Given the description of an element on the screen output the (x, y) to click on. 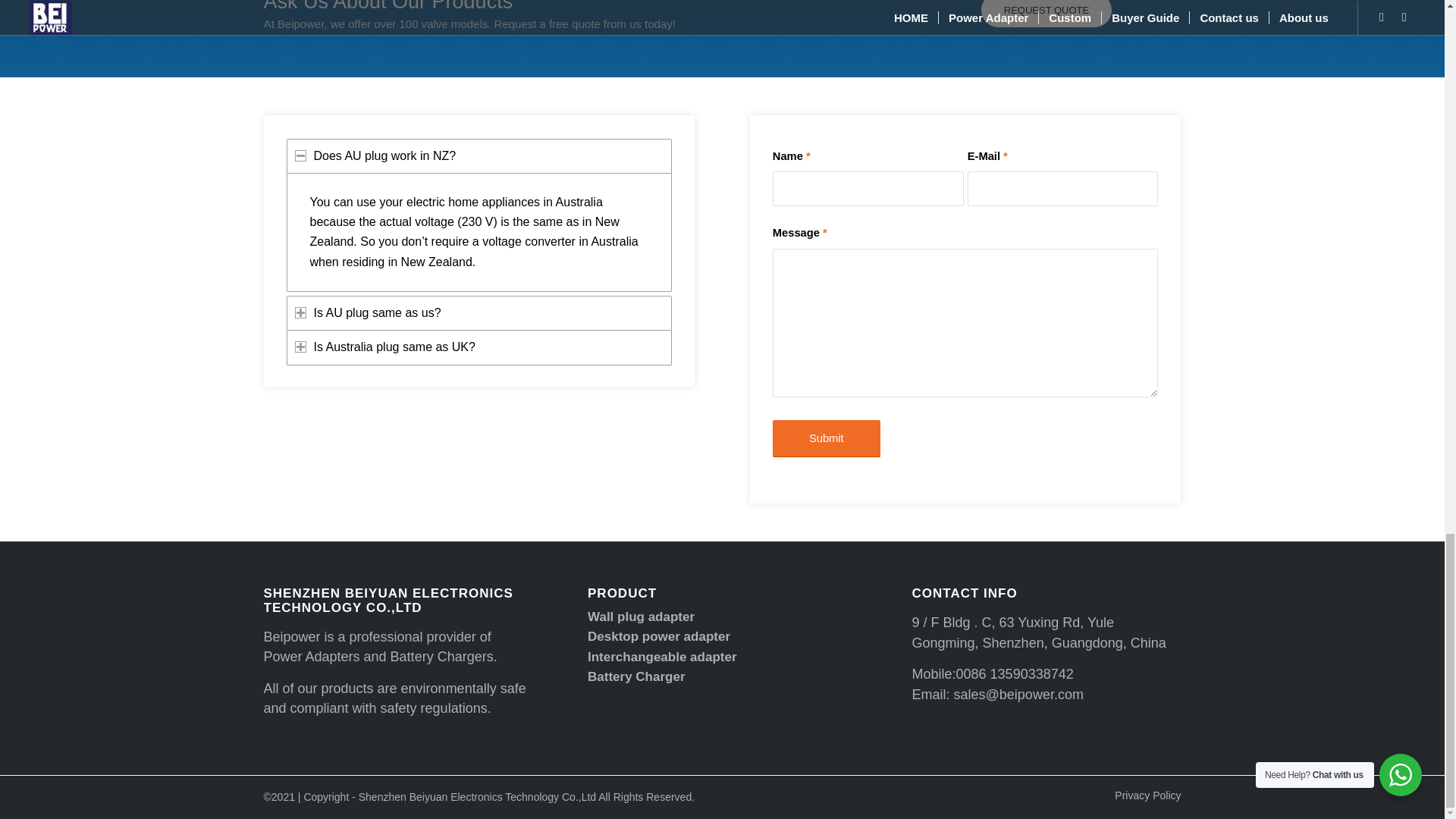
Wall plug adapter (641, 616)
required (1005, 155)
required (824, 232)
Privacy Policy (1147, 795)
Submit (826, 438)
Battery Charger (636, 676)
required (808, 155)
REQUEST QUOTE (1046, 13)
Interchangeable adapter (662, 657)
Desktop power adapter (659, 636)
Submit (826, 438)
